Given the description of an element on the screen output the (x, y) to click on. 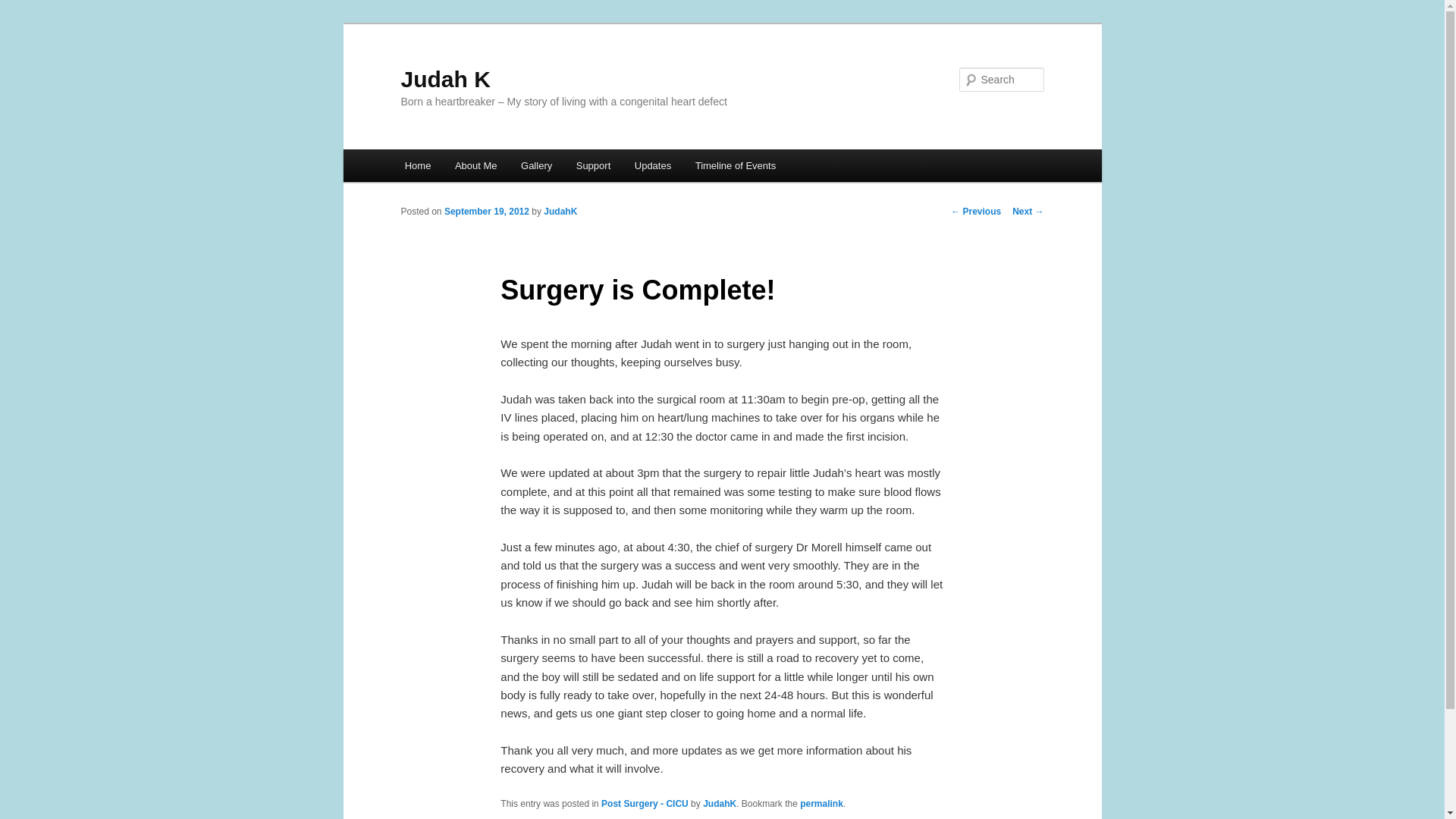
Post Surgery - CICU (644, 803)
Search (24, 8)
Judah K (444, 78)
Gallery (536, 165)
View all posts by JudahK (559, 211)
JudahK (719, 803)
4:40 pm (486, 211)
Updates (652, 165)
JudahK (559, 211)
Timeline of Events (734, 165)
Home (417, 165)
Permalink to Surgery is Complete! (821, 803)
permalink (821, 803)
Support (593, 165)
